Given the description of an element on the screen output the (x, y) to click on. 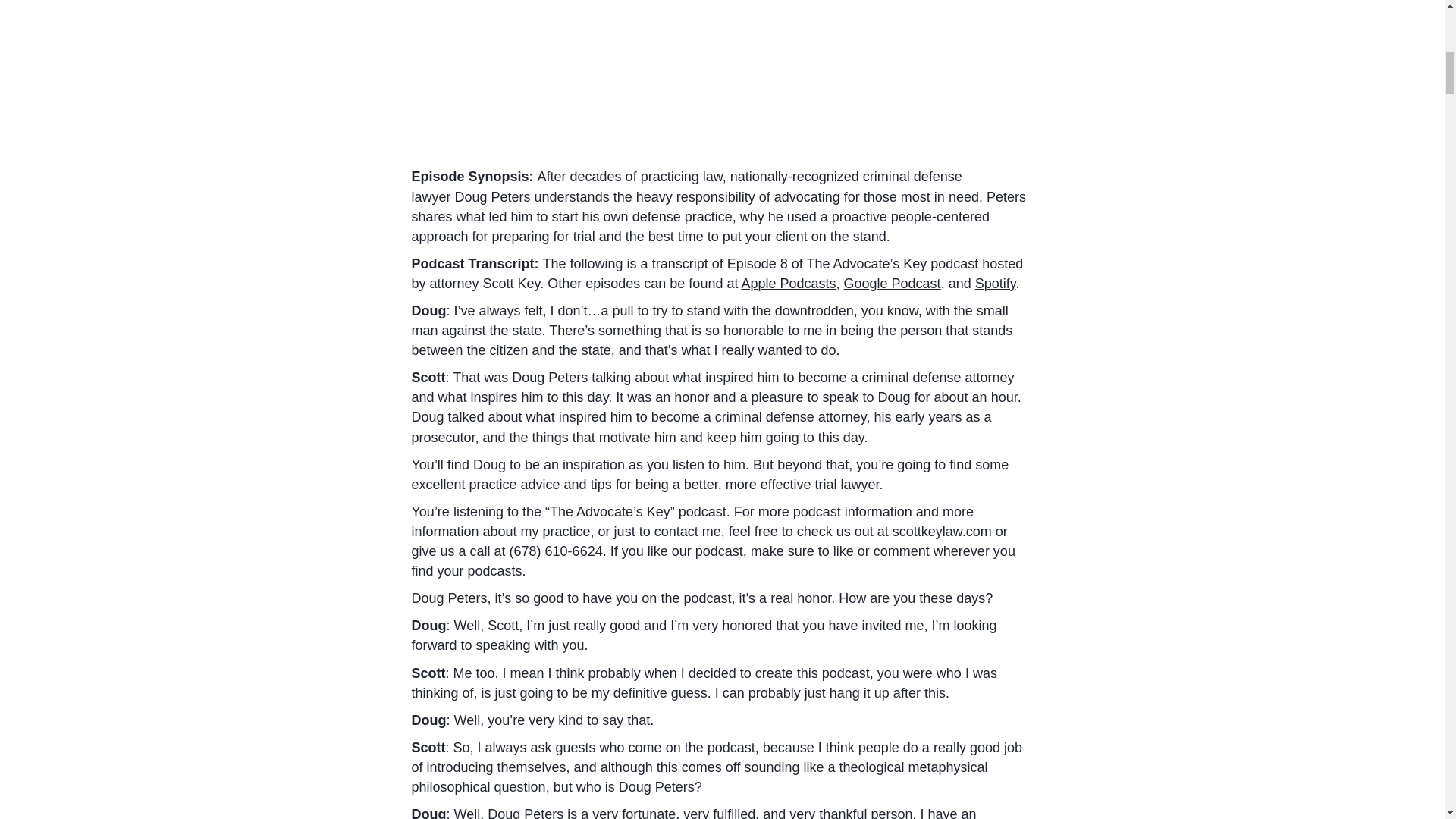
Google Podcast (892, 283)
Apple Podcasts (788, 283)
Spotify (995, 283)
